Given the description of an element on the screen output the (x, y) to click on. 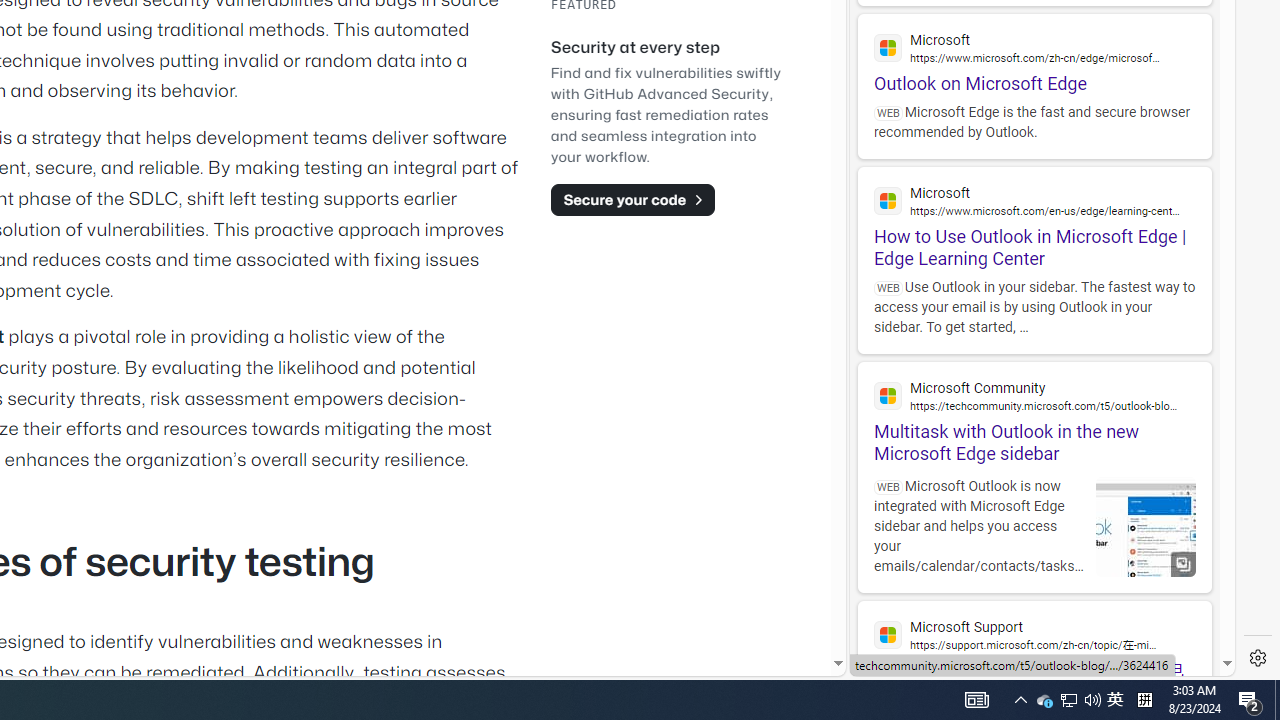
Secure your code (632, 199)
Microsoft Community (1034, 395)
How to Use Outlook in Microsoft Edge | Edge Learning Center (1034, 218)
Multitask with Outlook in the new Microsoft Edge sidebar (1034, 413)
Outlook on Microsoft Edge (1034, 54)
Microsoft Support (1034, 634)
